Given the description of an element on the screen output the (x, y) to click on. 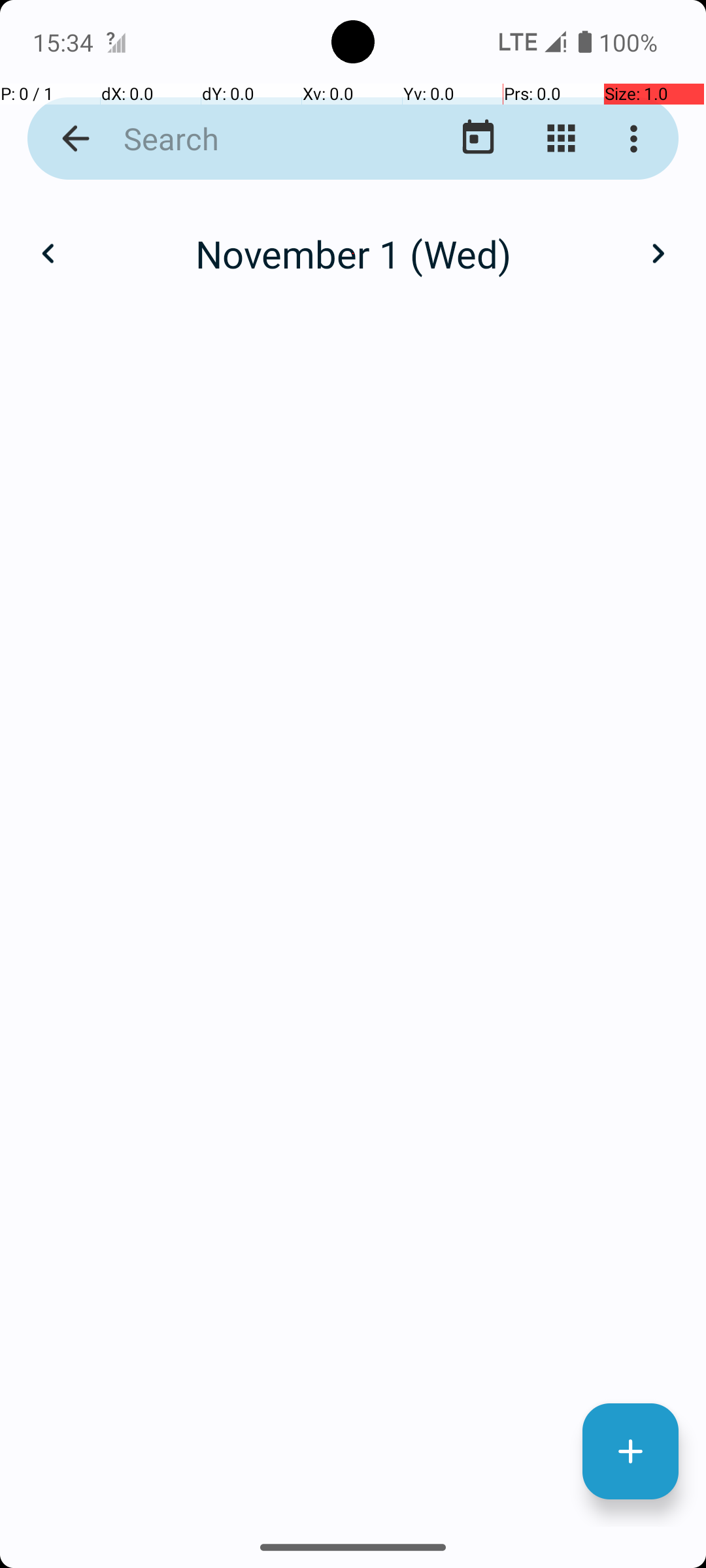
November 1 (Wed) Element type: android.widget.TextView (352, 253)
